Given the description of an element on the screen output the (x, y) to click on. 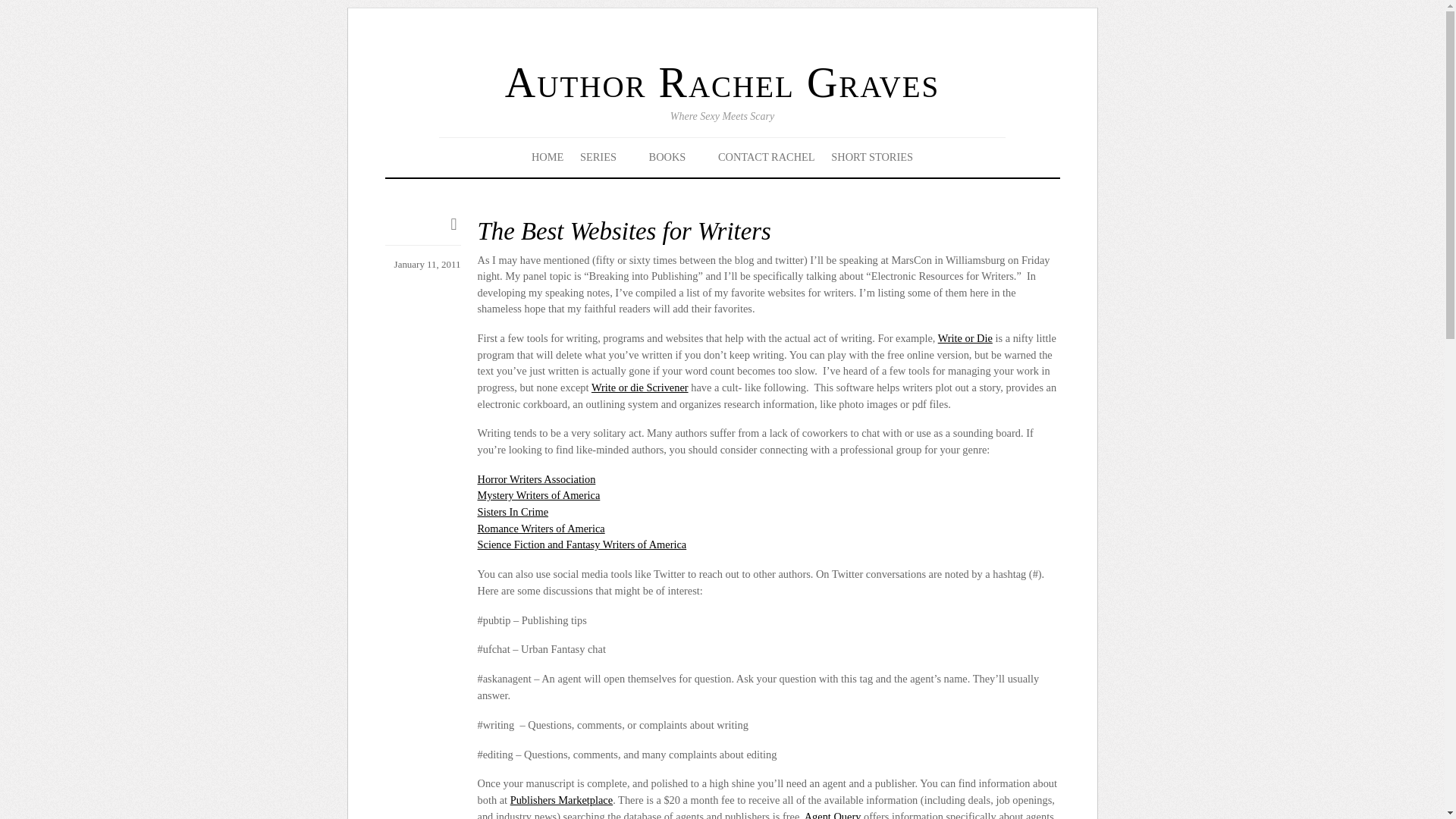
BOOKS (675, 156)
SERIES (606, 156)
CONTACT RACHEL (766, 156)
Sisters In Crime (512, 511)
Science Fiction and Fantasy Writers of America (582, 544)
Romance Writers of America (541, 528)
Horror Writers Association (536, 479)
HOME (547, 156)
Publishers Marketplace (561, 799)
Mystery Writers of America (538, 494)
Author Rachel Graves (722, 82)
Write or Die (964, 337)
The Best Websites for Writers (624, 230)
Author Rachel Graves (722, 82)
Agent Query (833, 814)
